Given the description of an element on the screen output the (x, y) to click on. 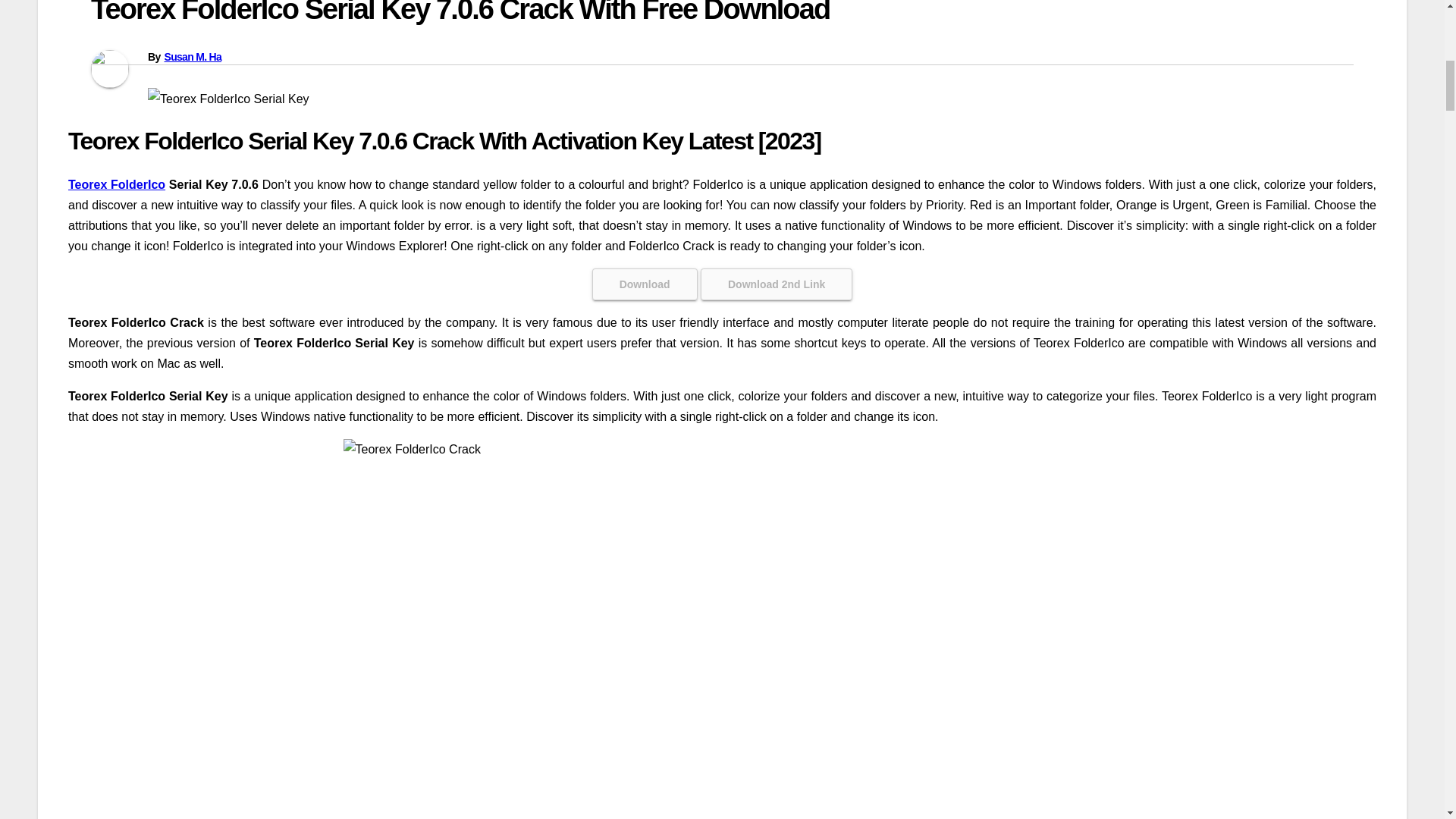
Teorex FolderIco Serial Key 7.0.6 Crack With Free Download (459, 12)
Teorex FolderIco (116, 184)
Download (644, 284)
Susan M. Ha (192, 56)
